Given the description of an element on the screen output the (x, y) to click on. 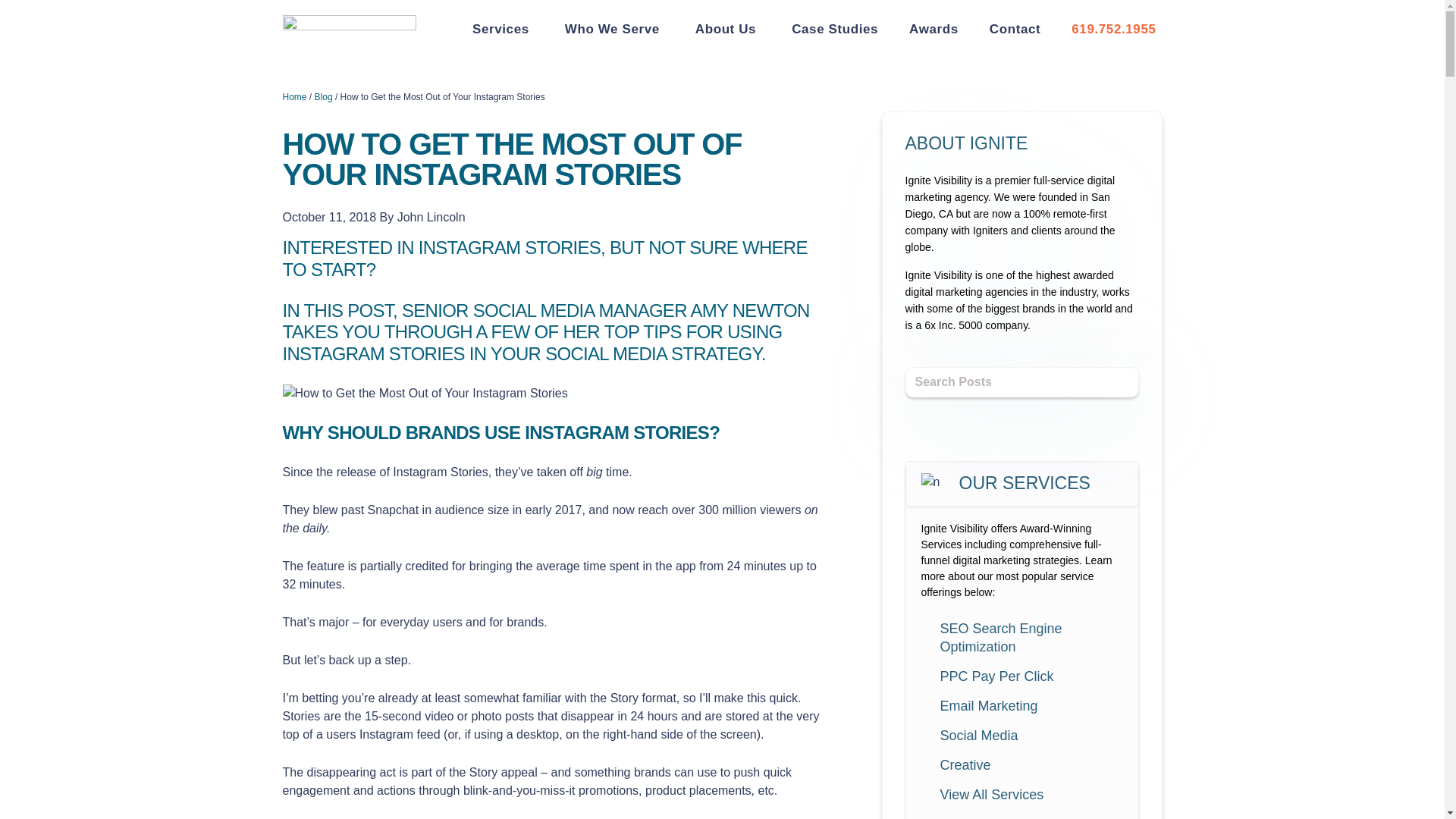
Search (1115, 386)
About Us (727, 28)
Services (502, 28)
Search (1115, 386)
Who We Serve (614, 28)
